Given the description of an element on the screen output the (x, y) to click on. 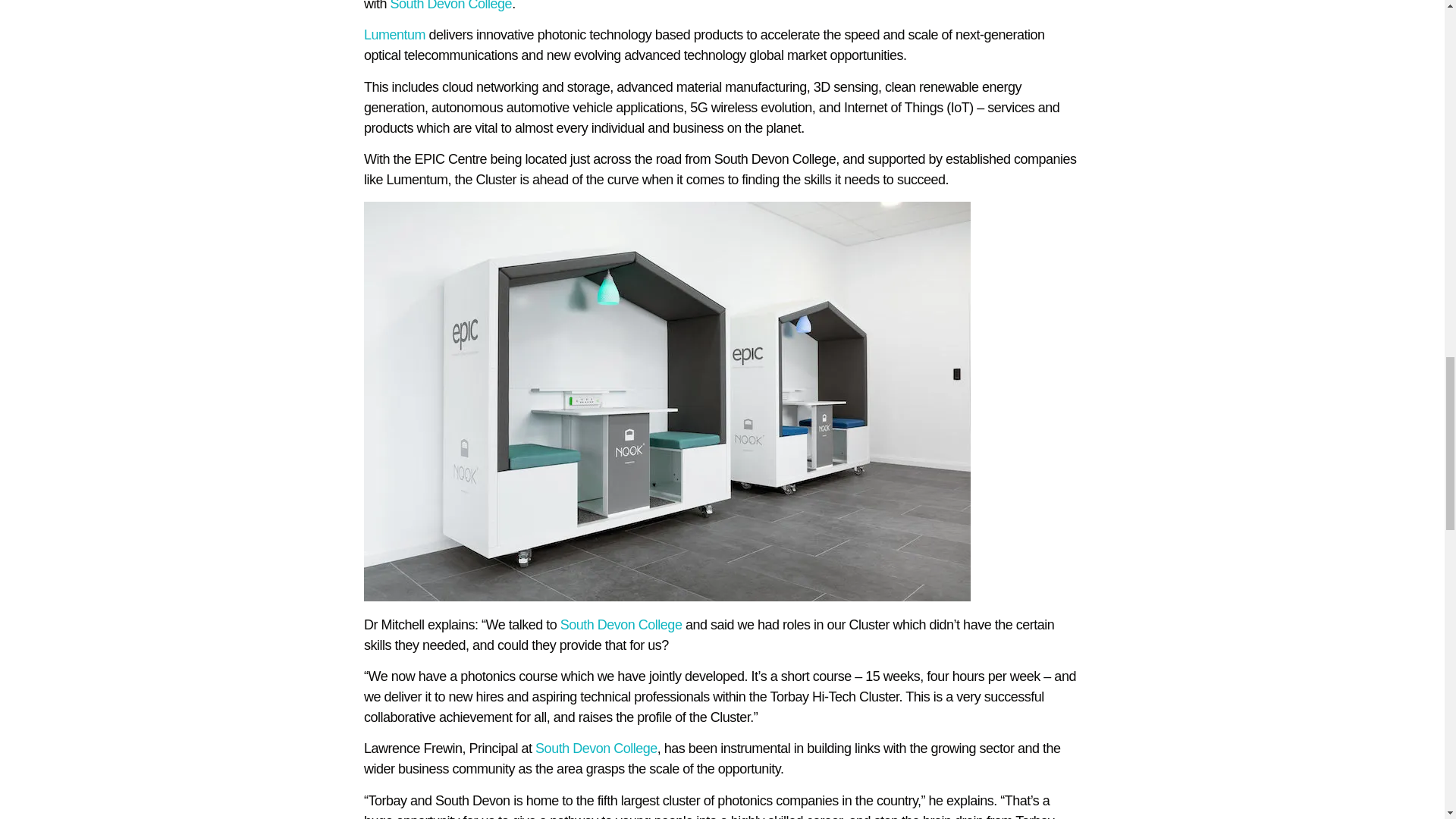
South Devon College (596, 748)
Lumentum (394, 34)
South Devon College (451, 5)
South Devon College (621, 624)
